Given the description of an element on the screen output the (x, y) to click on. 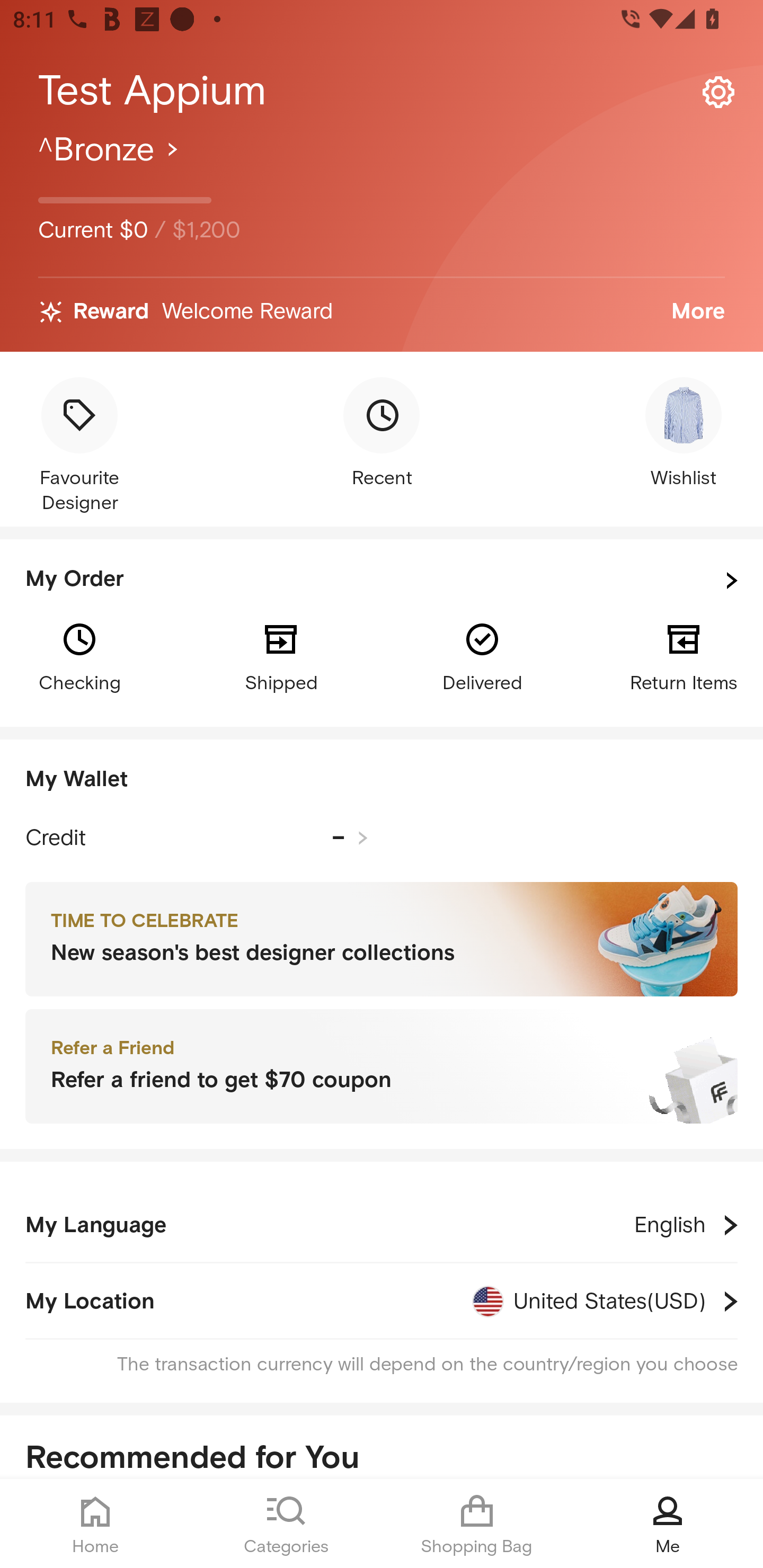
Test Appium (381, 91)
Current $0 / $1,200 Reward Welcome Reward More (381, 240)
Reward Welcome Reward More (381, 311)
Favourite Designer (79, 446)
Recent (381, 433)
Wishlist (683, 433)
My Order (381, 580)
Checking (79, 656)
Shipped (280, 656)
Delivered (482, 656)
Return Items (683, 656)
My Wallet (381, 779)
Credit - (196, 837)
Refer a Friend Refer a friend to get $70 coupon (381, 1066)
My Language English (381, 1224)
My Location United States(USD) (381, 1301)
Home (95, 1523)
Categories (285, 1523)
Shopping Bag (476, 1523)
